Given the description of an element on the screen output the (x, y) to click on. 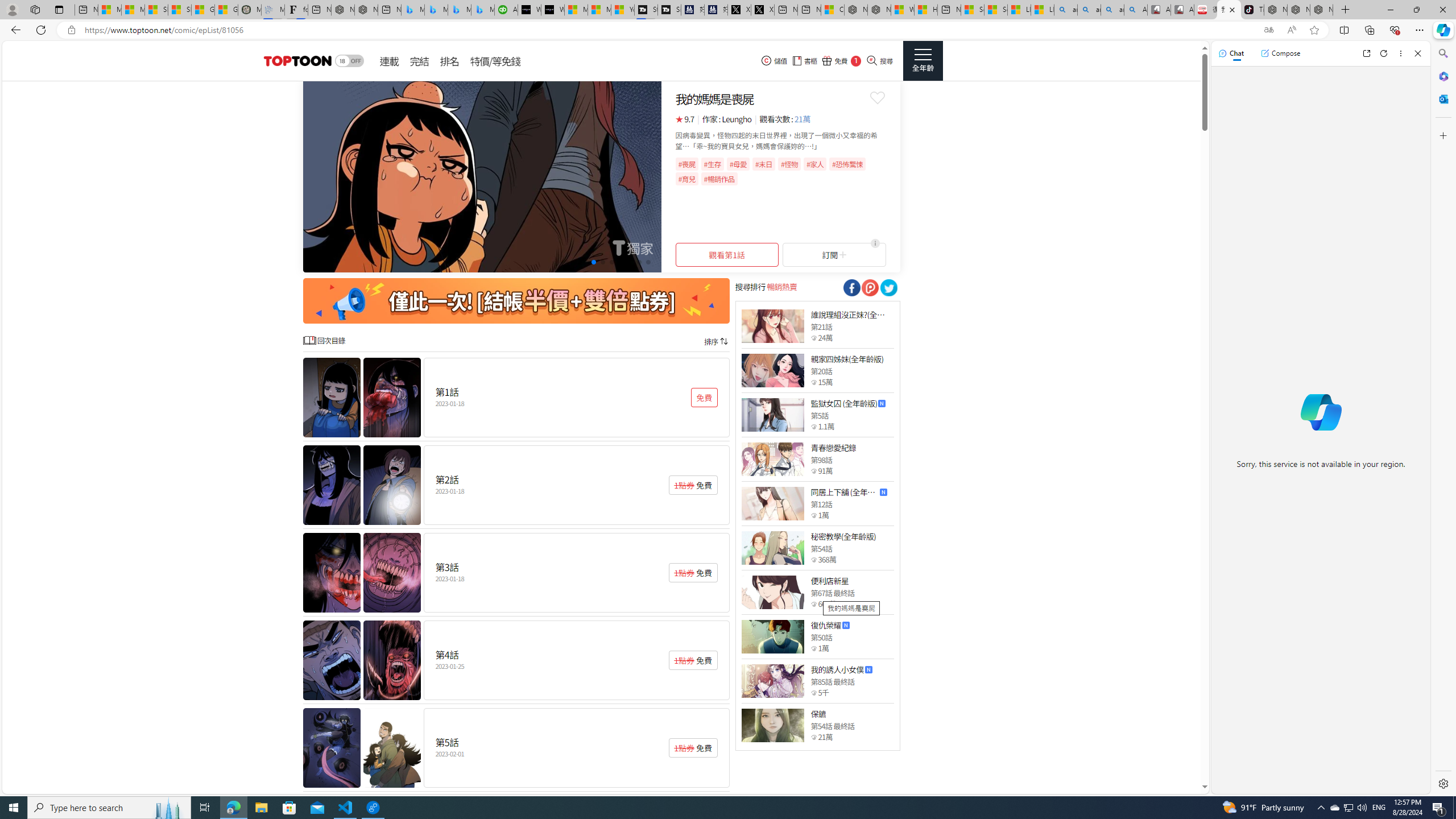
Microsoft Bing Travel - Shangri-La Hotel Bangkok (482, 9)
Class: thumb_img (772, 725)
App bar (728, 29)
Go to slide 8 (629, 261)
Close tab (1232, 9)
New tab (949, 9)
Refresh (1383, 53)
